Given the description of an element on the screen output the (x, y) to click on. 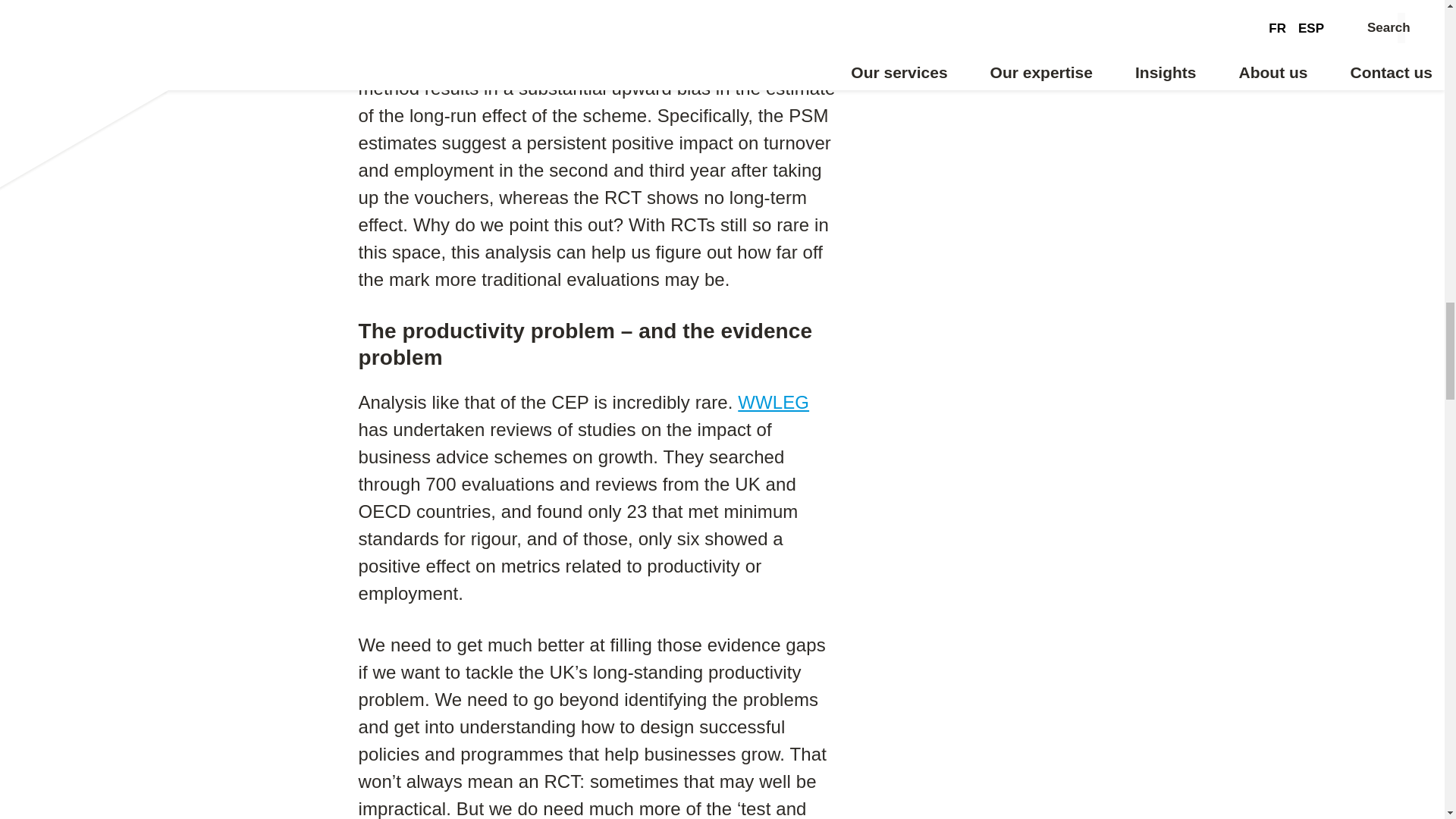
WWLEG (773, 402)
propensity score matching (465, 33)
